Given the description of an element on the screen output the (x, y) to click on. 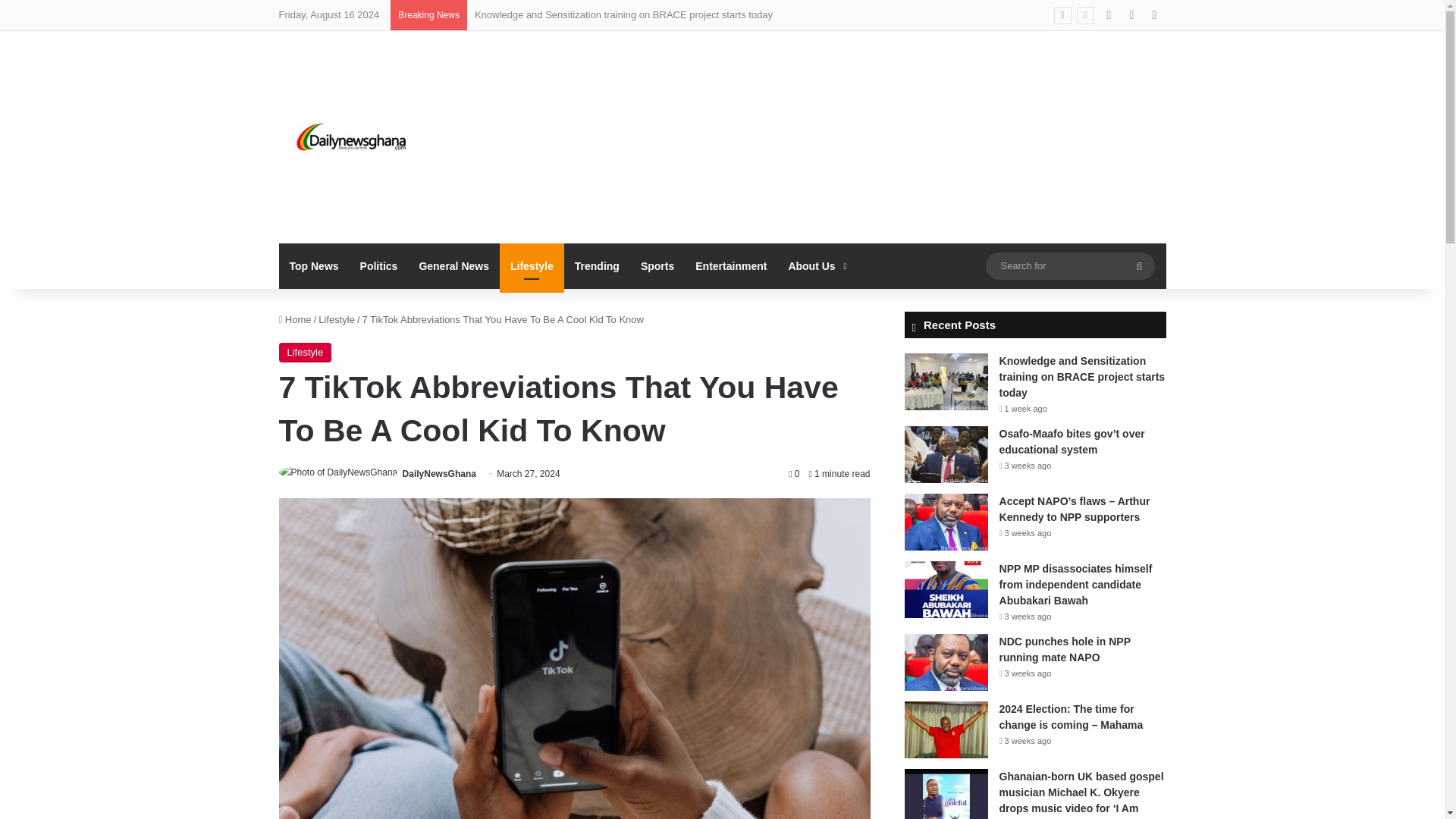
DailyNewsGhana (439, 473)
Trending (597, 266)
Lifestyle (336, 319)
Home (295, 319)
Top News (314, 266)
About Us (815, 266)
Politics (379, 266)
Search for (1139, 266)
Entertainment (730, 266)
Lifestyle (531, 266)
